Given the description of an element on the screen output the (x, y) to click on. 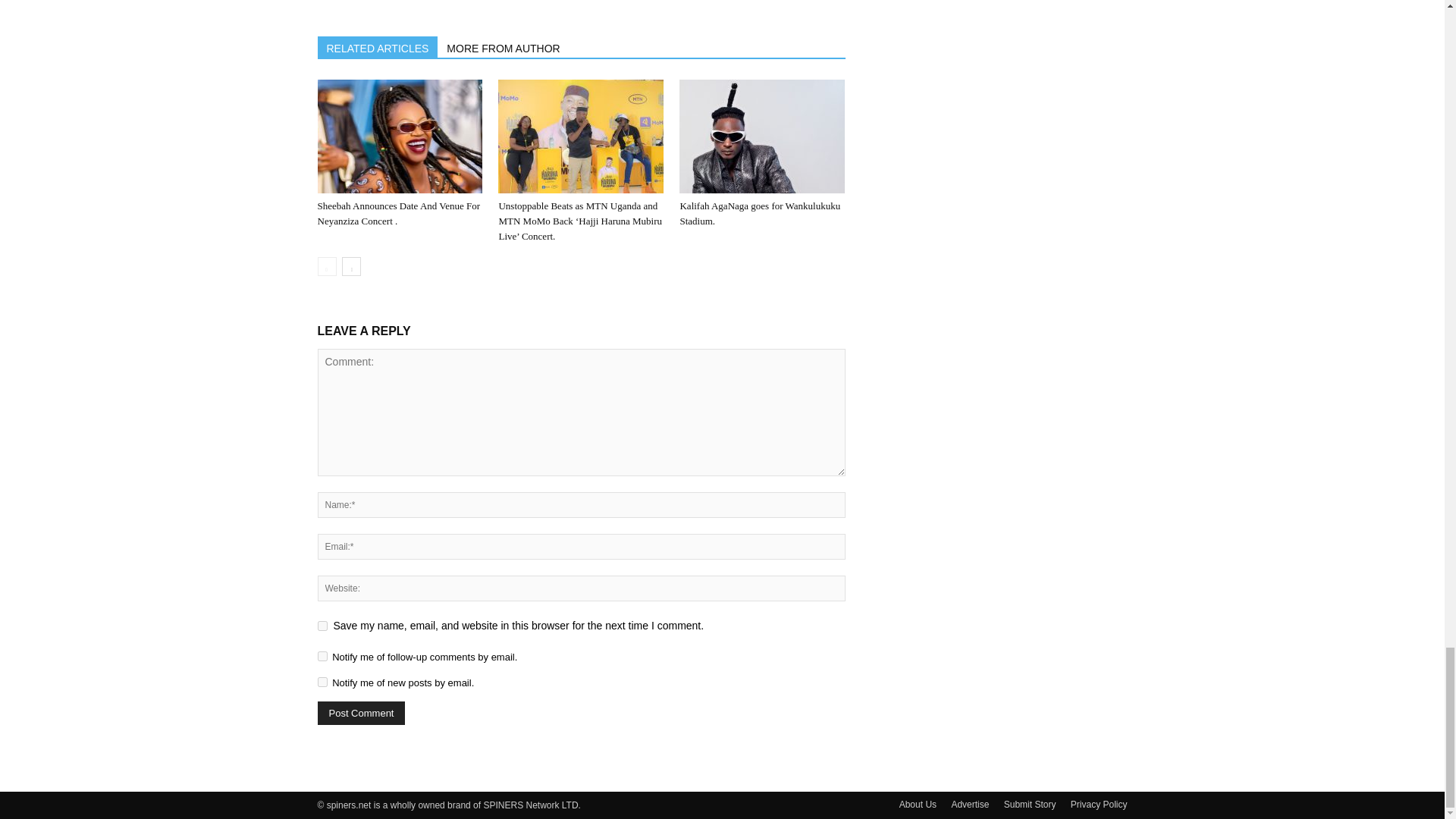
yes (321, 625)
subscribe (321, 655)
Post Comment (360, 712)
subscribe (321, 682)
